Given the description of an element on the screen output the (x, y) to click on. 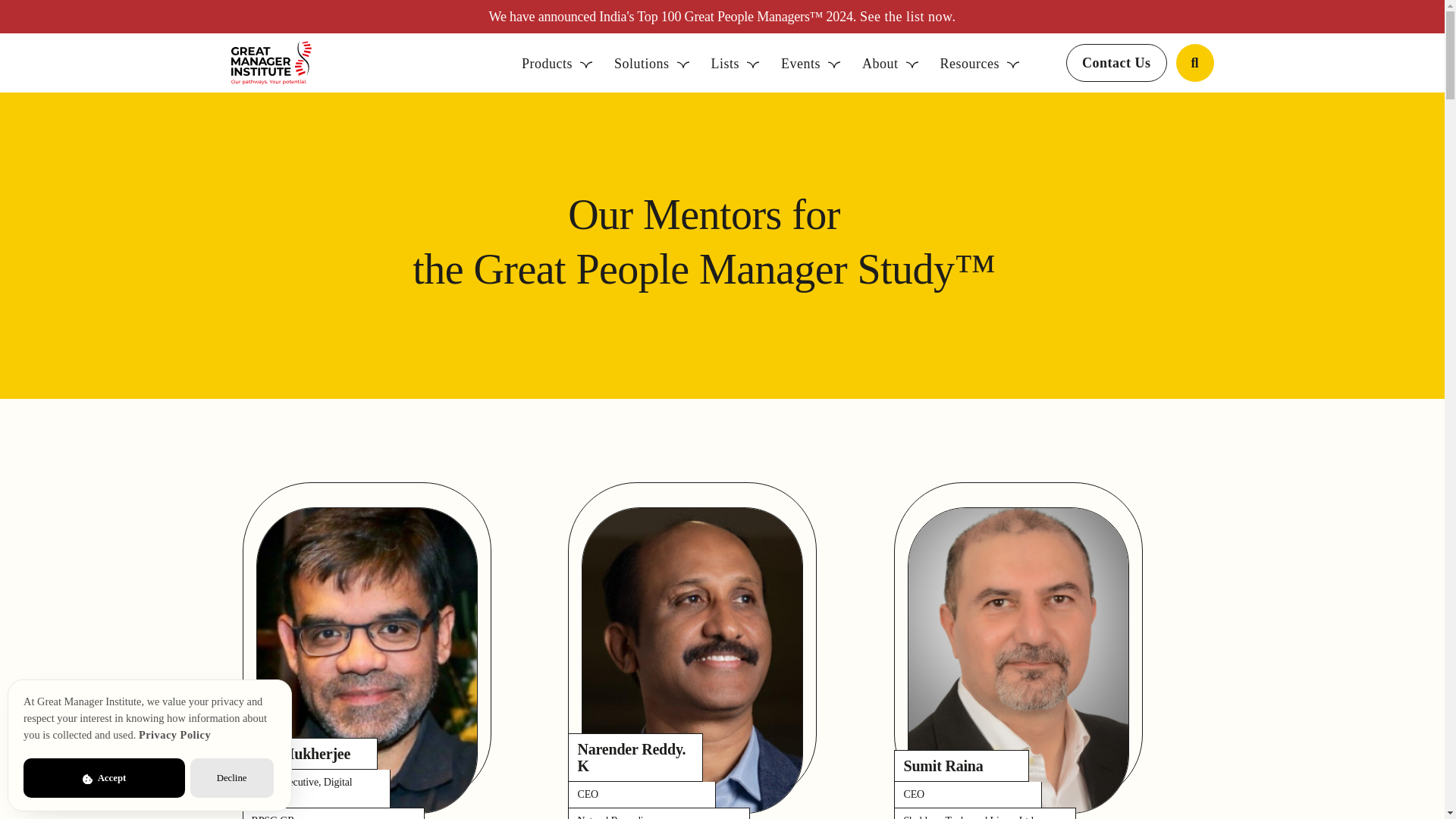
About (889, 64)
Events (810, 64)
Resources (979, 64)
Products (556, 64)
See the list now. (367, 809)
Lists (1017, 809)
Contact Us (905, 16)
Solutions (735, 64)
